Given the description of an element on the screen output the (x, y) to click on. 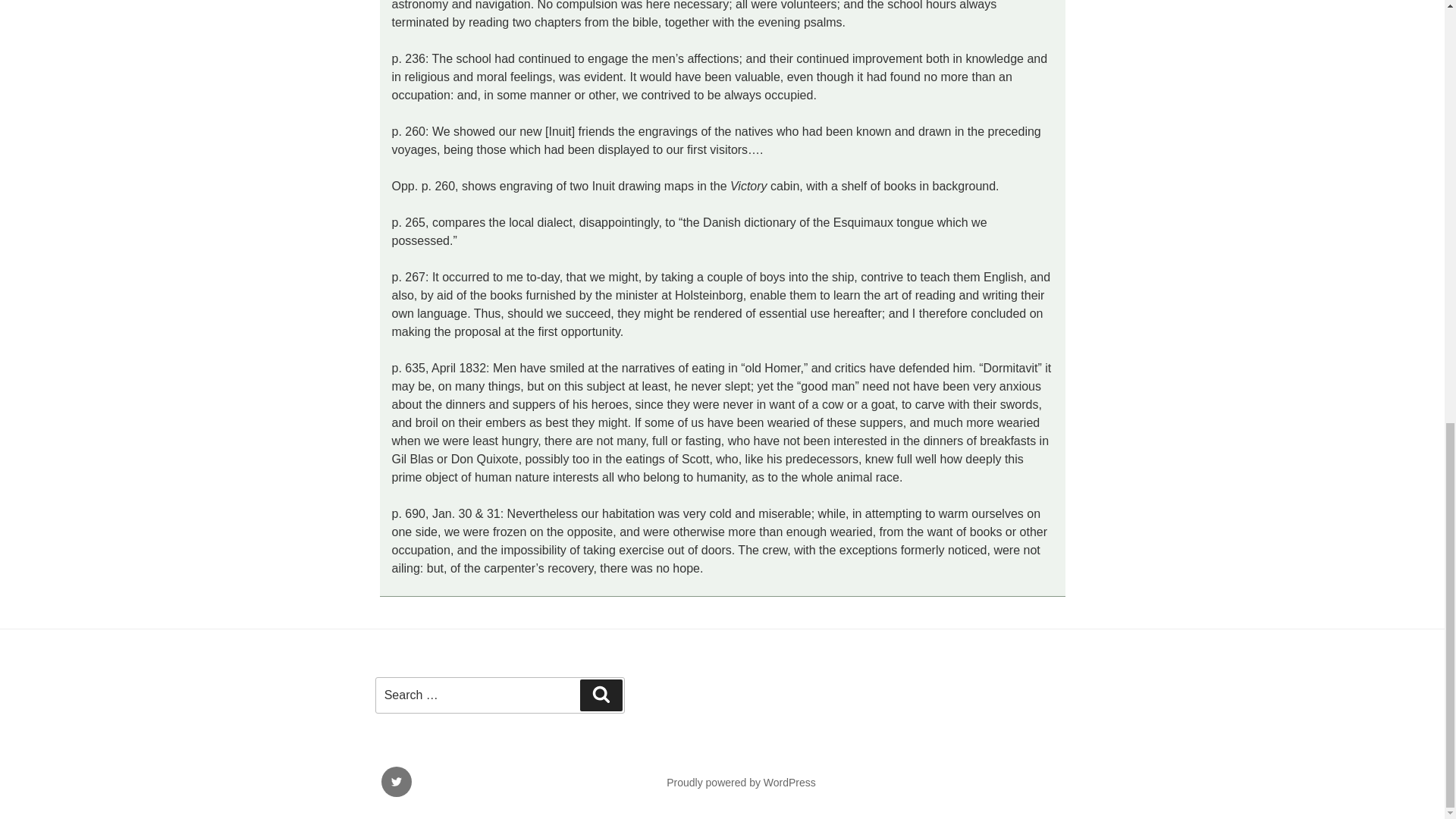
Twitter (395, 781)
Proudly powered by WordPress (740, 782)
Search (601, 695)
